Given the description of an element on the screen output the (x, y) to click on. 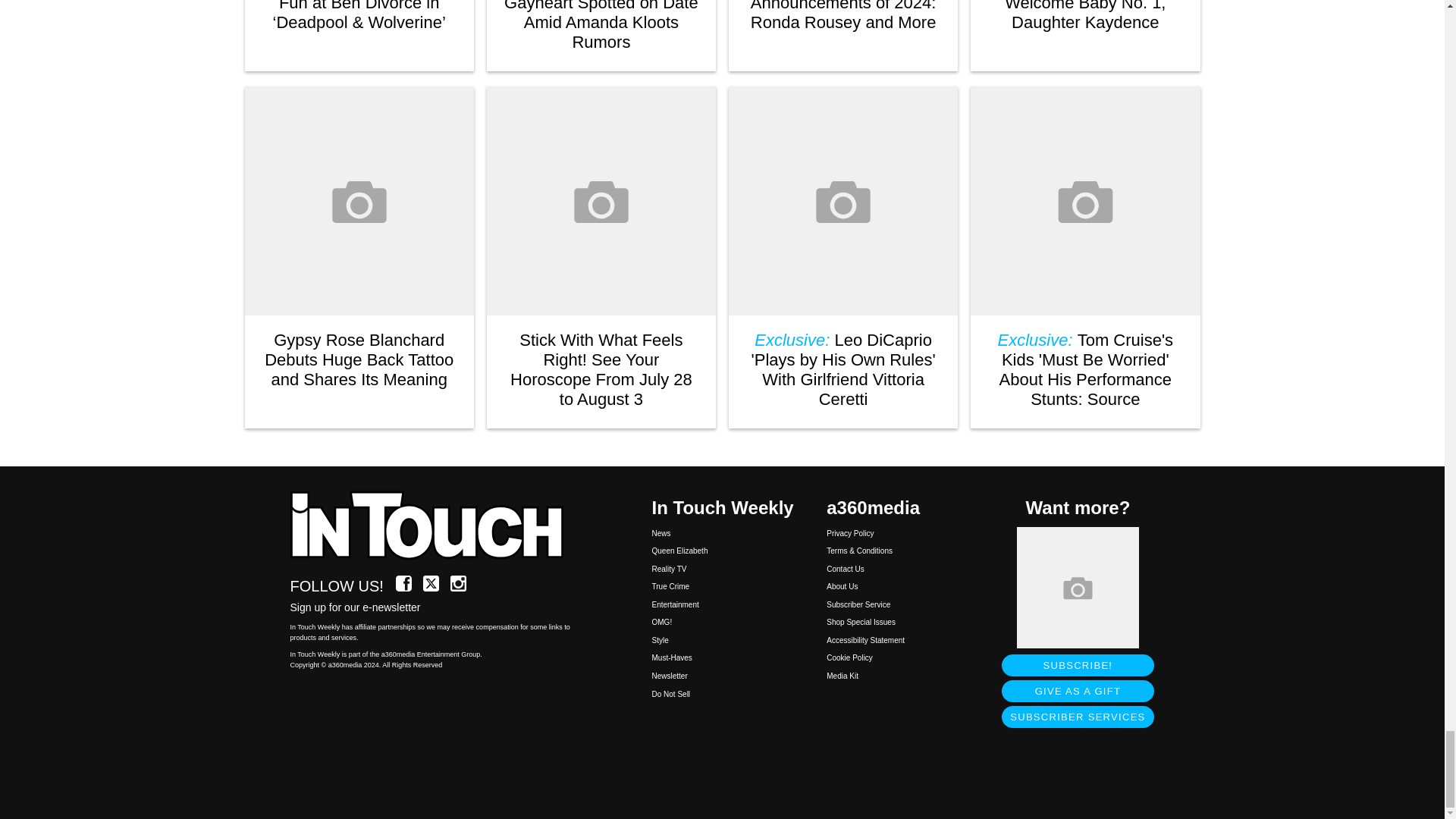
Home (434, 526)
